Given the description of an element on the screen output the (x, y) to click on. 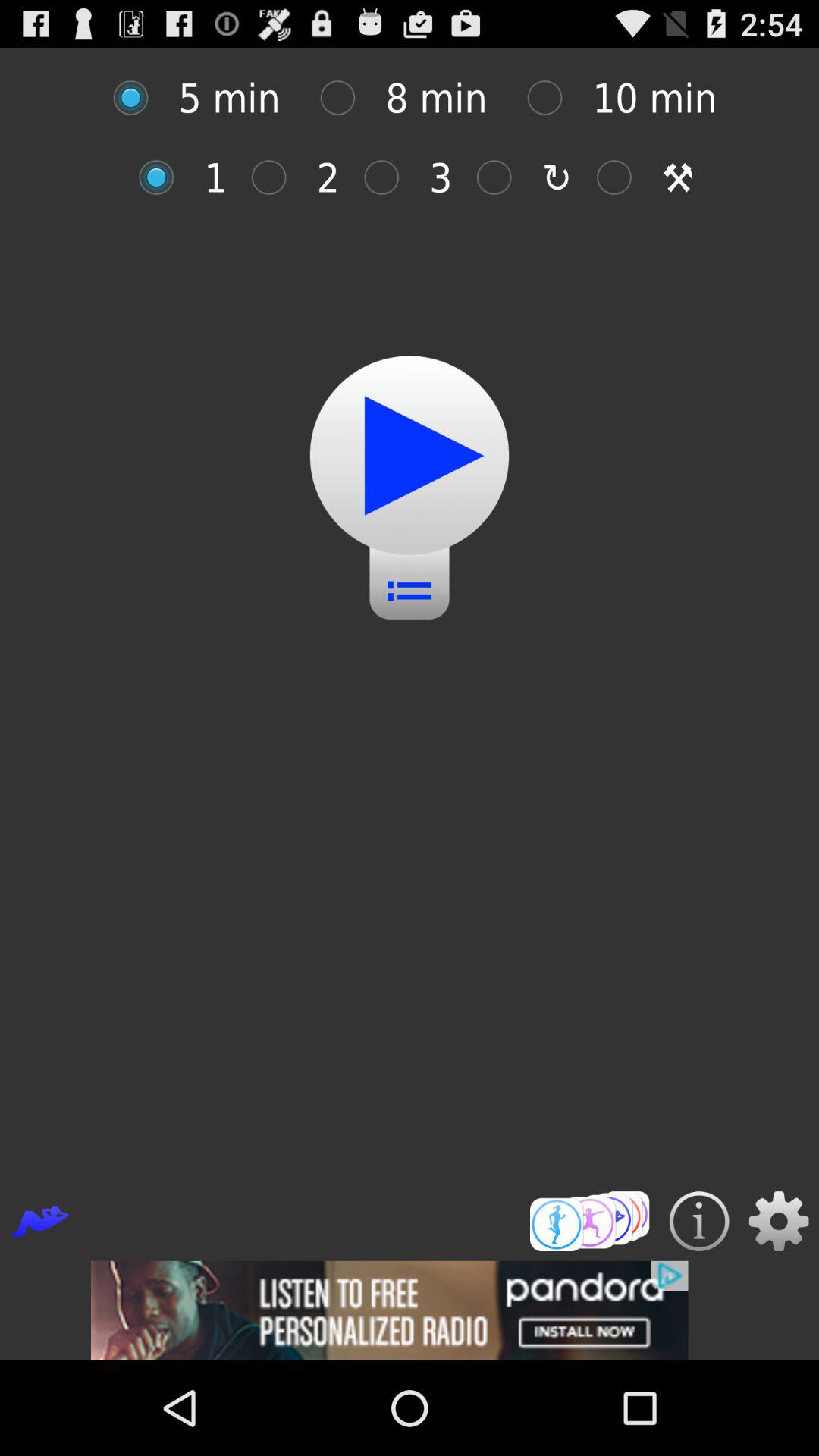
select routine 1 (164, 177)
